Given the description of an element on the screen output the (x, y) to click on. 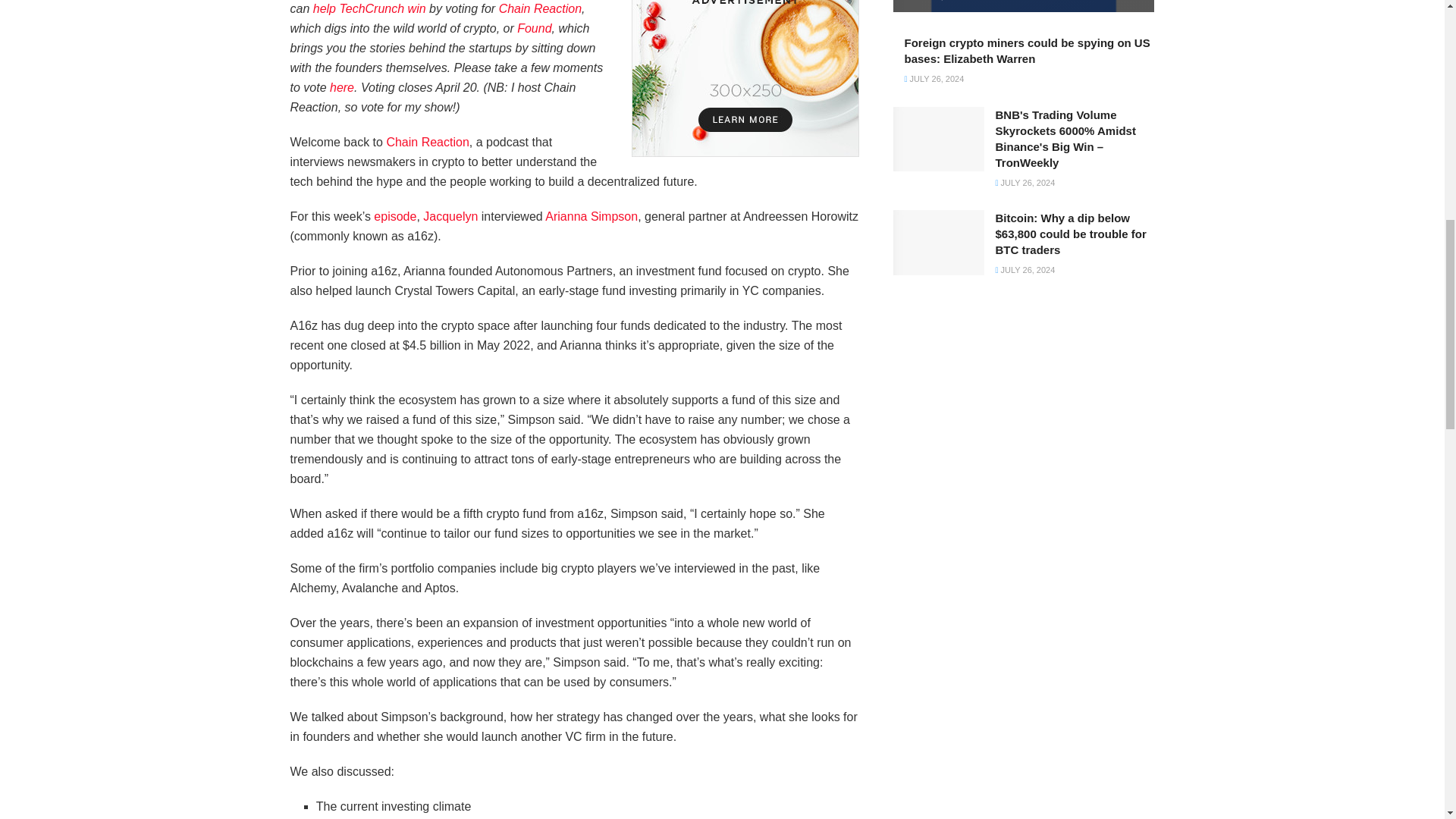
Chain Reaction (539, 8)
help TechCrunch win (369, 8)
Found (533, 28)
